Given the description of an element on the screen output the (x, y) to click on. 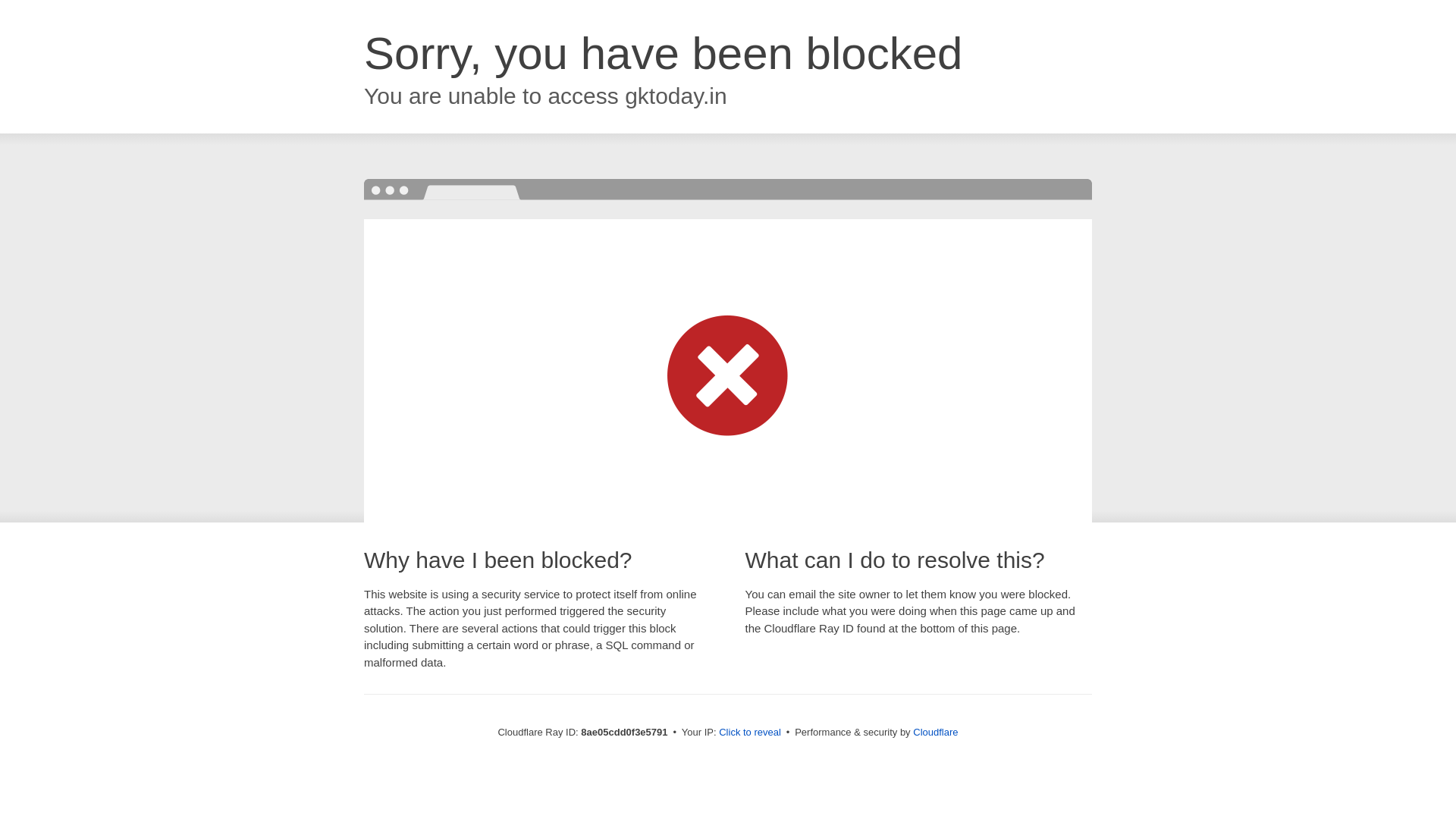
Cloudflare (935, 731)
Click to reveal (749, 732)
